Given the description of an element on the screen output the (x, y) to click on. 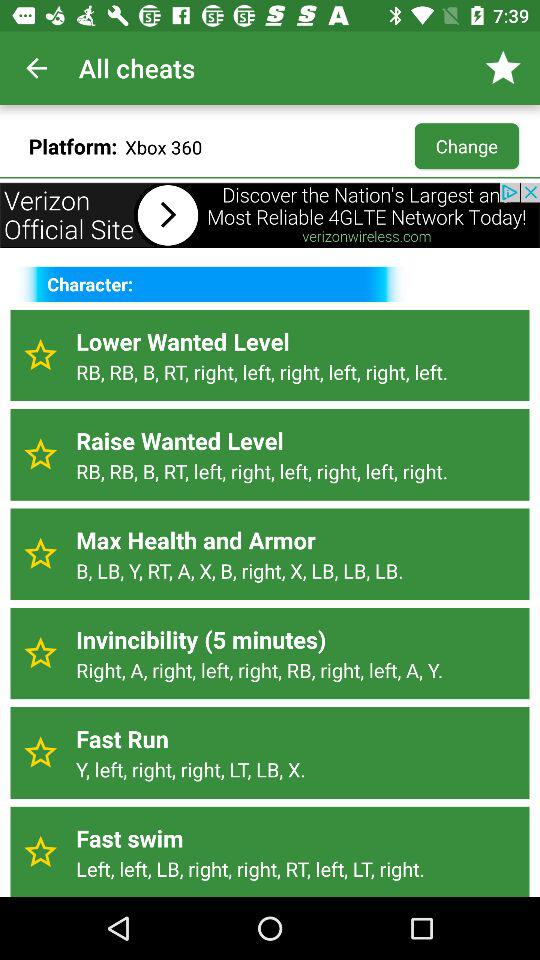
favorite (40, 355)
